Given the description of an element on the screen output the (x, y) to click on. 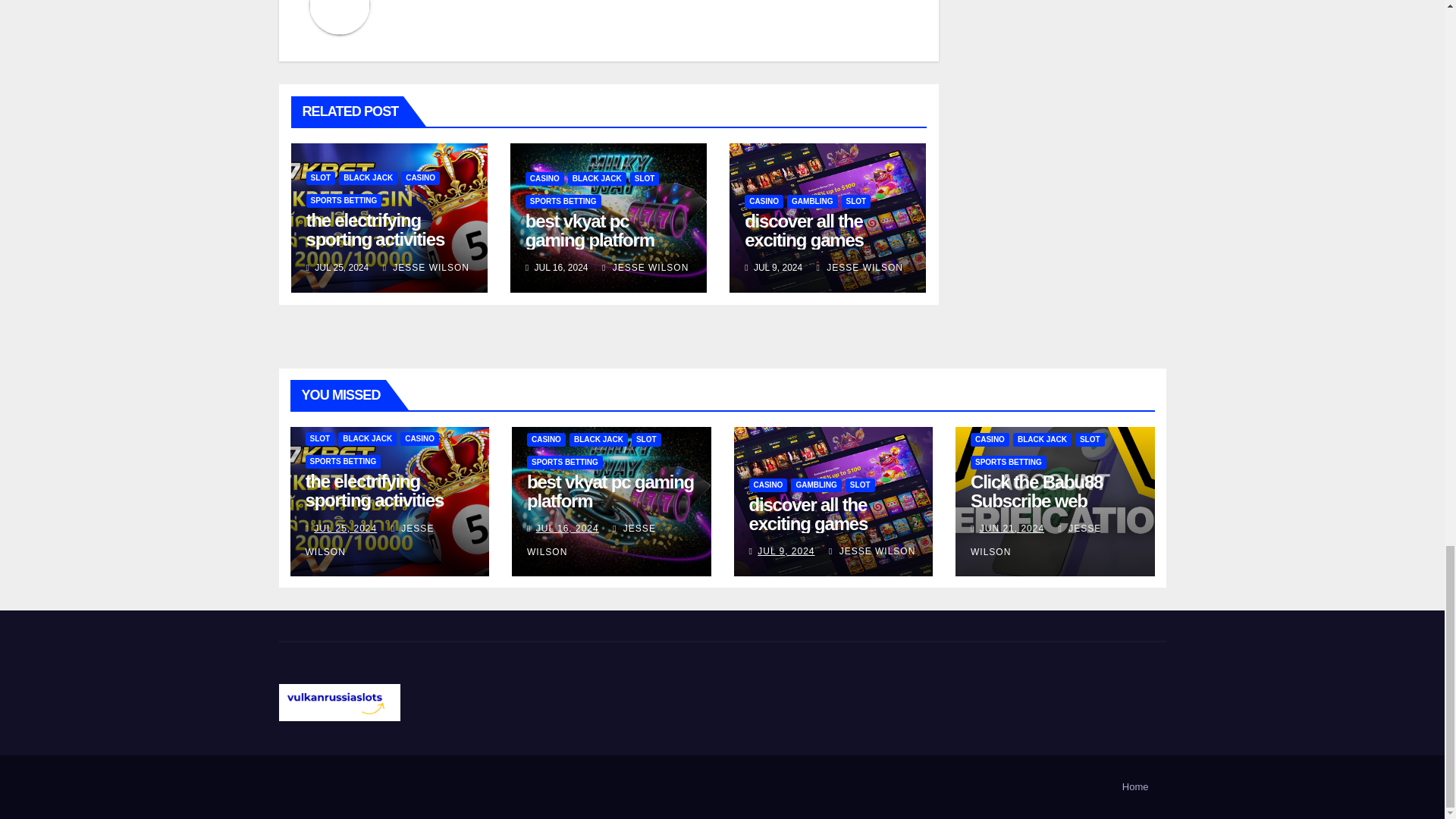
Permalink to: discover all the exciting games (803, 230)
Permalink to: discover all the exciting games (808, 513)
CASINO (544, 178)
Permalink to: the electrifying sporting activities betting (375, 238)
SLOT (320, 178)
Permalink to: best vkyat pc gaming platform (610, 491)
SPORTS BETTING (343, 201)
JESSE WILSON (425, 267)
Permalink to: Click the Babu88 Subscribe web (1036, 491)
the electrifying sporting activities betting (375, 238)
